Given the description of an element on the screen output the (x, y) to click on. 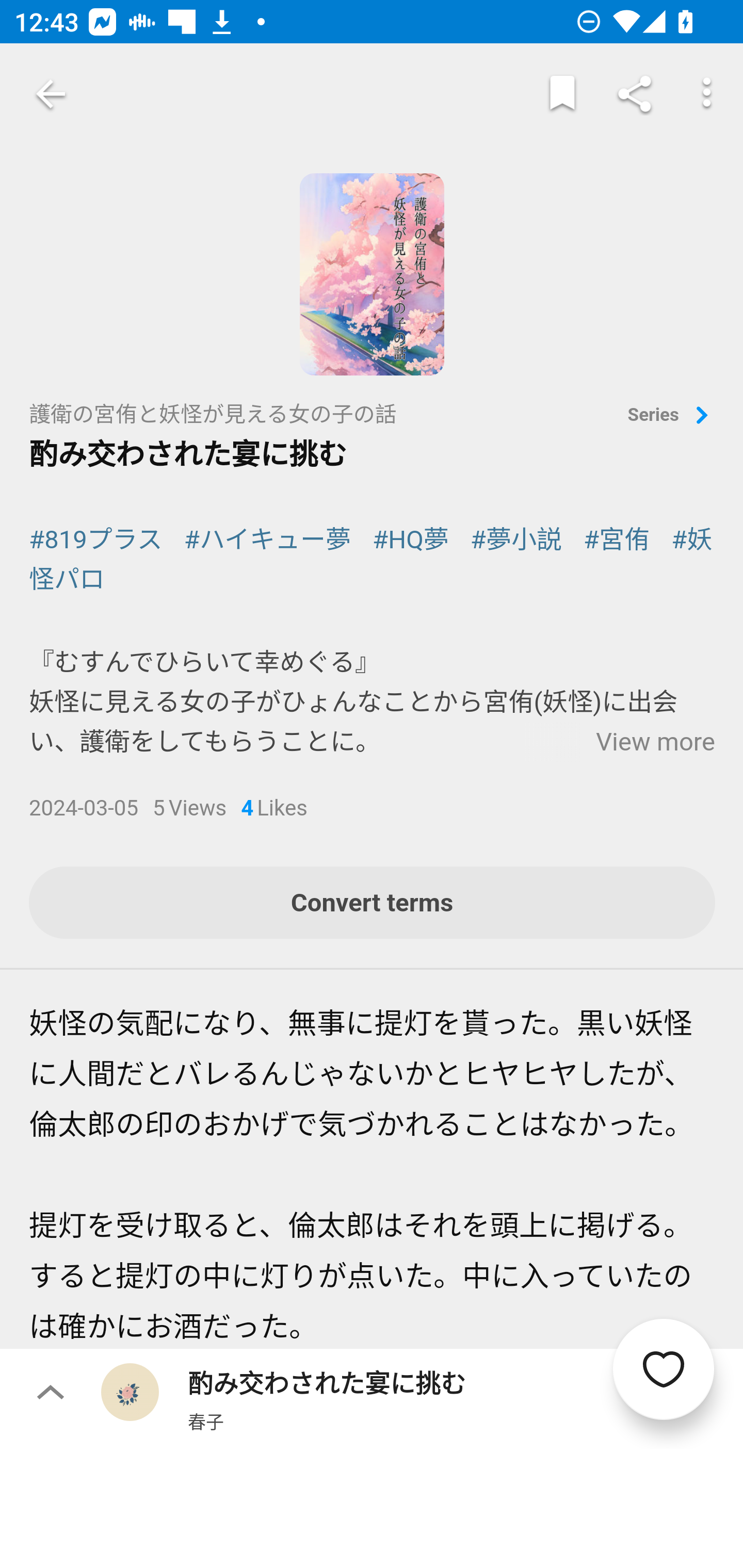
Navigate up (50, 93)
Markers (562, 93)
Share (634, 93)
More options (706, 93)
Series (671, 416)
#819プラス (96, 539)
#ハイキュー夢 (267, 539)
#HQ夢 (410, 539)
#夢小説 (516, 539)
#宮侑 (617, 539)
View more (654, 742)
4Likes (273, 809)
Convert terms (372, 903)
春子 (205, 1421)
